Given the description of an element on the screen output the (x, y) to click on. 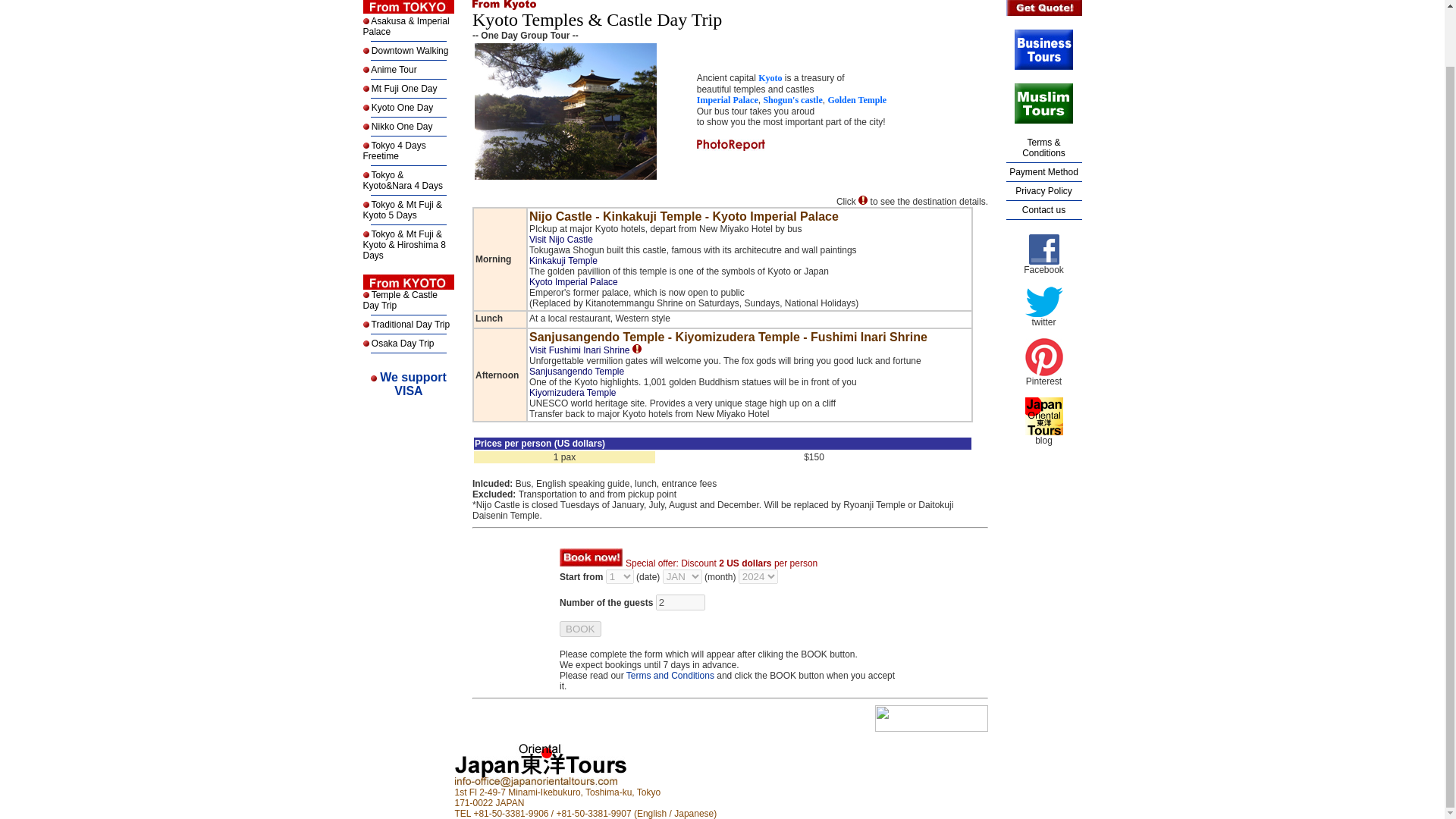
Privacy Policy (1042, 190)
Tokyo 4 Days Freetime (393, 150)
Downtown Walking (409, 50)
Osaka Day Trip (400, 343)
Anime Tour (393, 69)
2 (680, 602)
Mt Fuji One Day (402, 88)
Nikko One Day (400, 126)
Traditional Day Trip (408, 324)
Payment Method (1043, 172)
BOOK (413, 384)
Contact us (580, 628)
Terms and Conditions (1043, 209)
Kyoto One Day (669, 675)
